Given the description of an element on the screen output the (x, y) to click on. 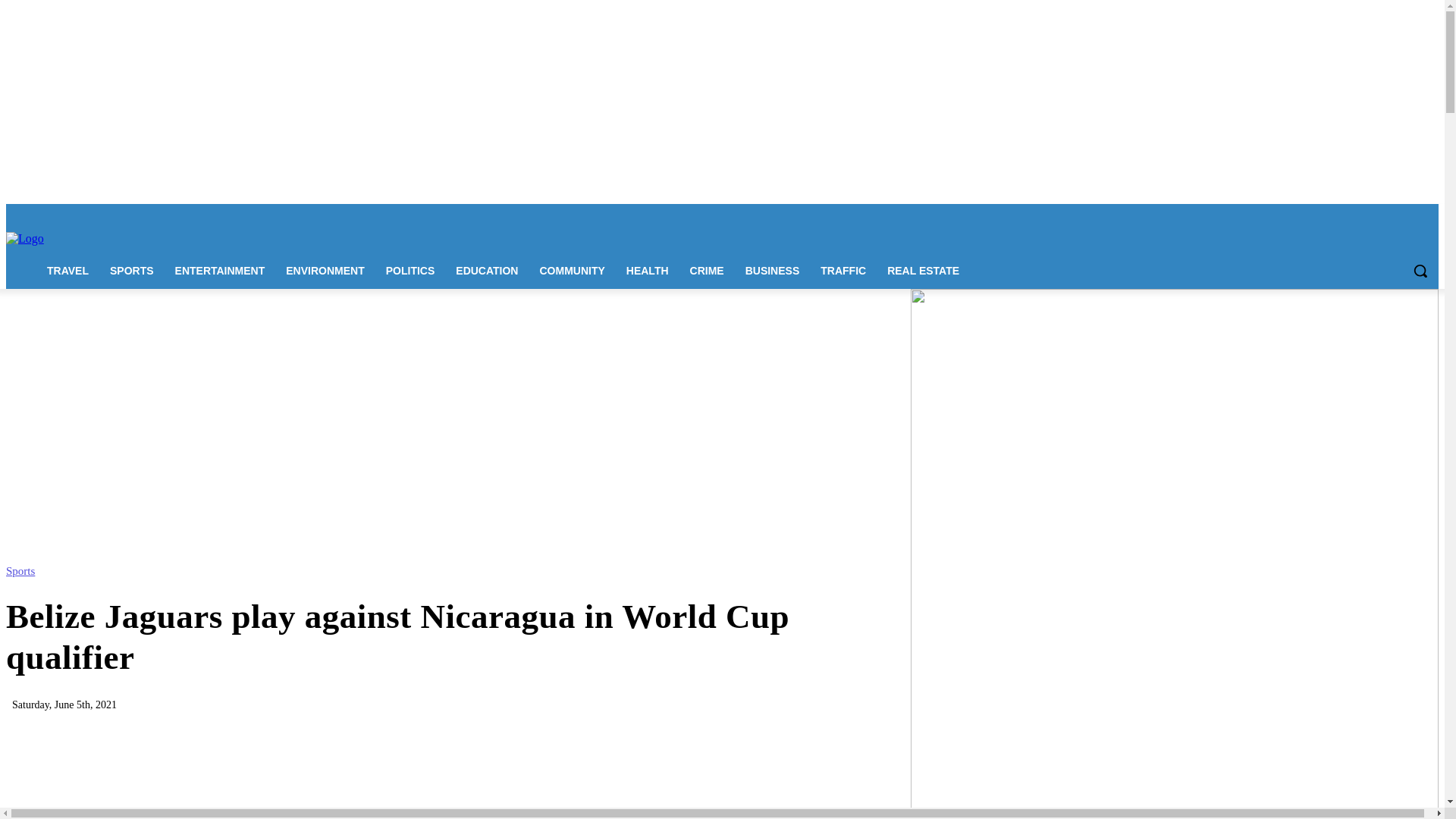
Advertising information (309, 214)
COMMUNITY (571, 270)
BUSINESS (772, 270)
Linkedin (1366, 214)
CRIME (707, 270)
Classifieds (453, 214)
HEALTH (647, 270)
Facebook (1324, 214)
Archives (502, 214)
Pinterest (1387, 214)
